Given the description of an element on the screen output the (x, y) to click on. 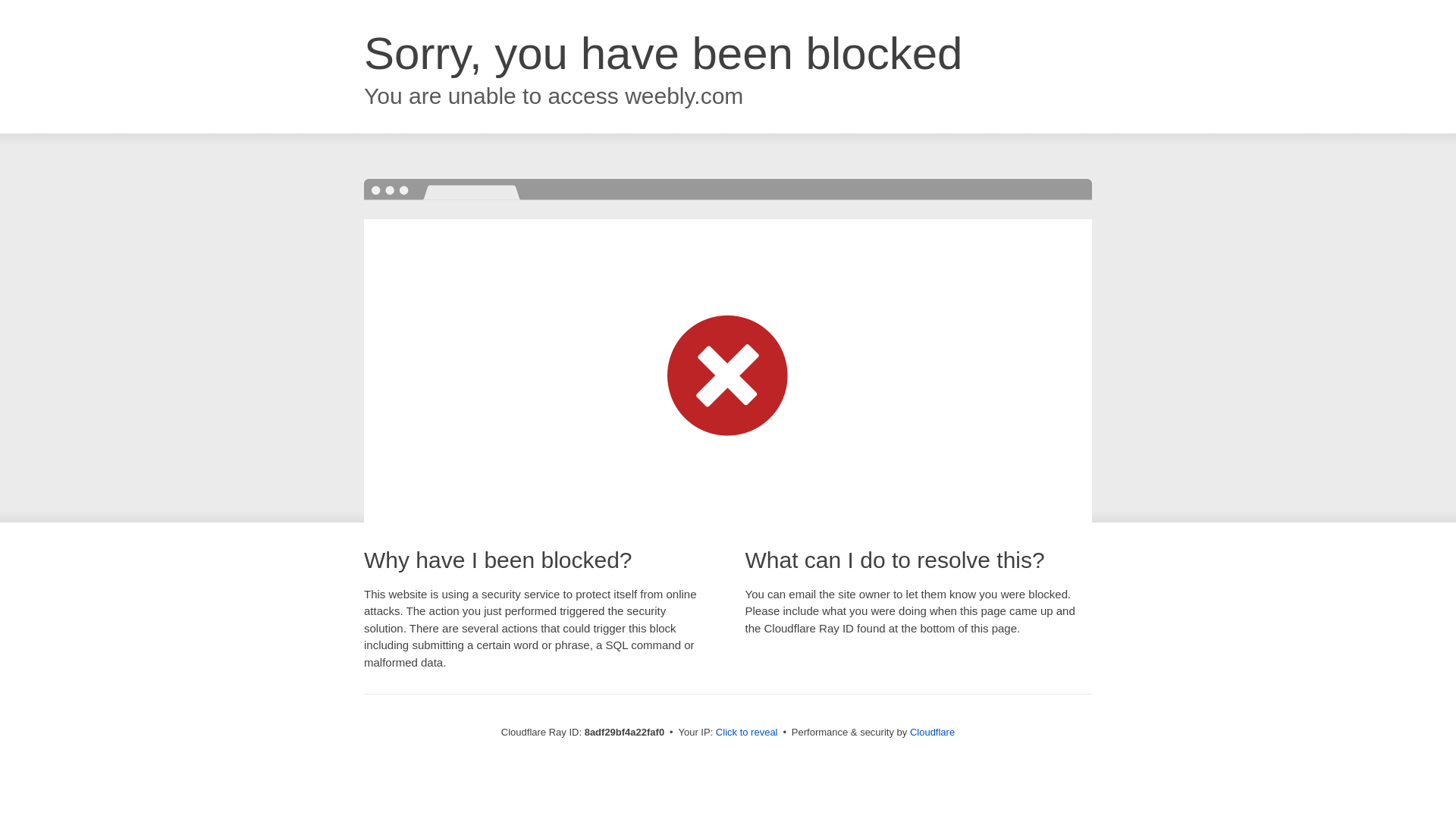
Click to reveal (746, 732)
Cloudflare (932, 731)
